Given the description of an element on the screen output the (x, y) to click on. 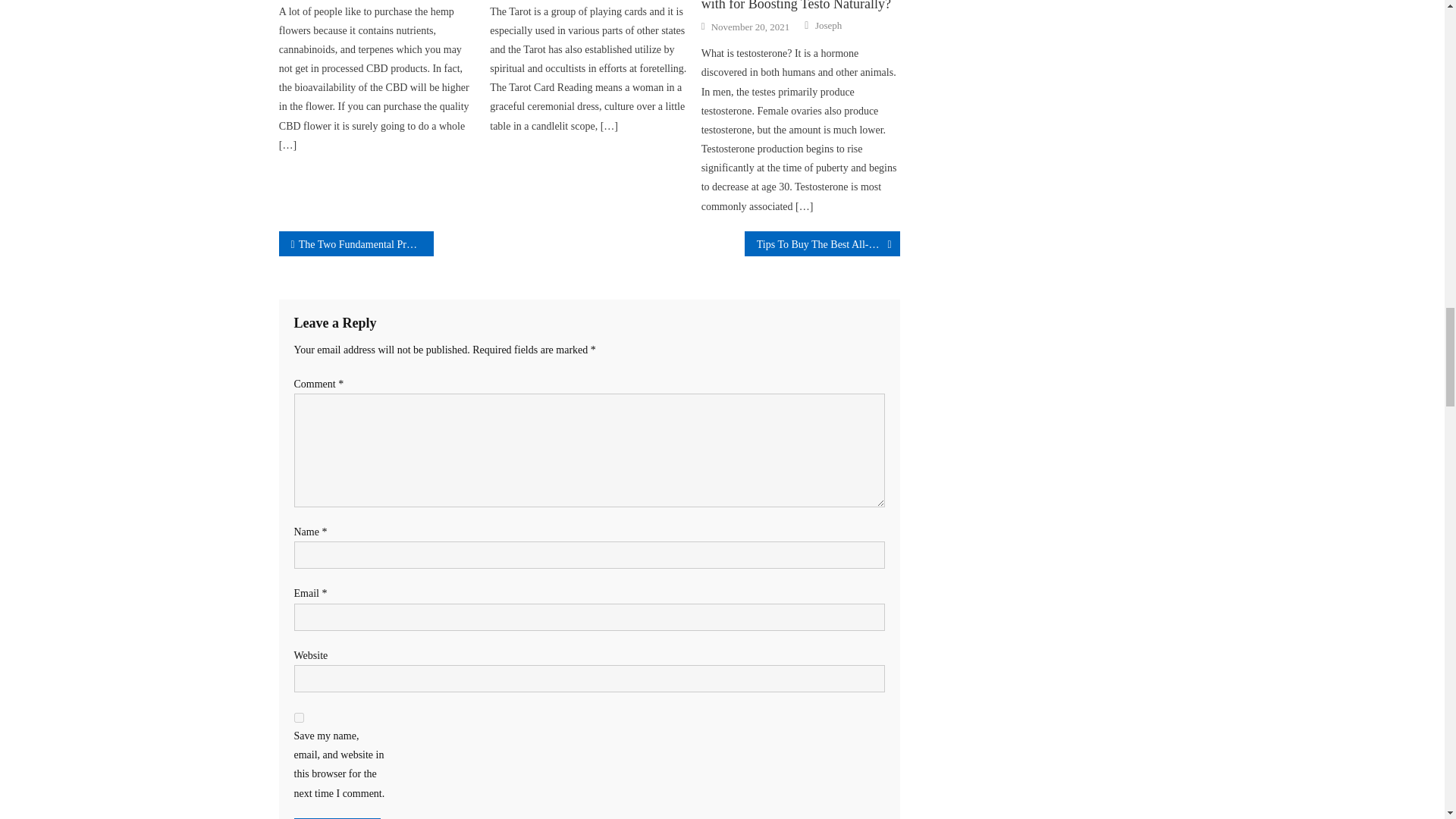
yes (299, 717)
